Given the description of an element on the screen output the (x, y) to click on. 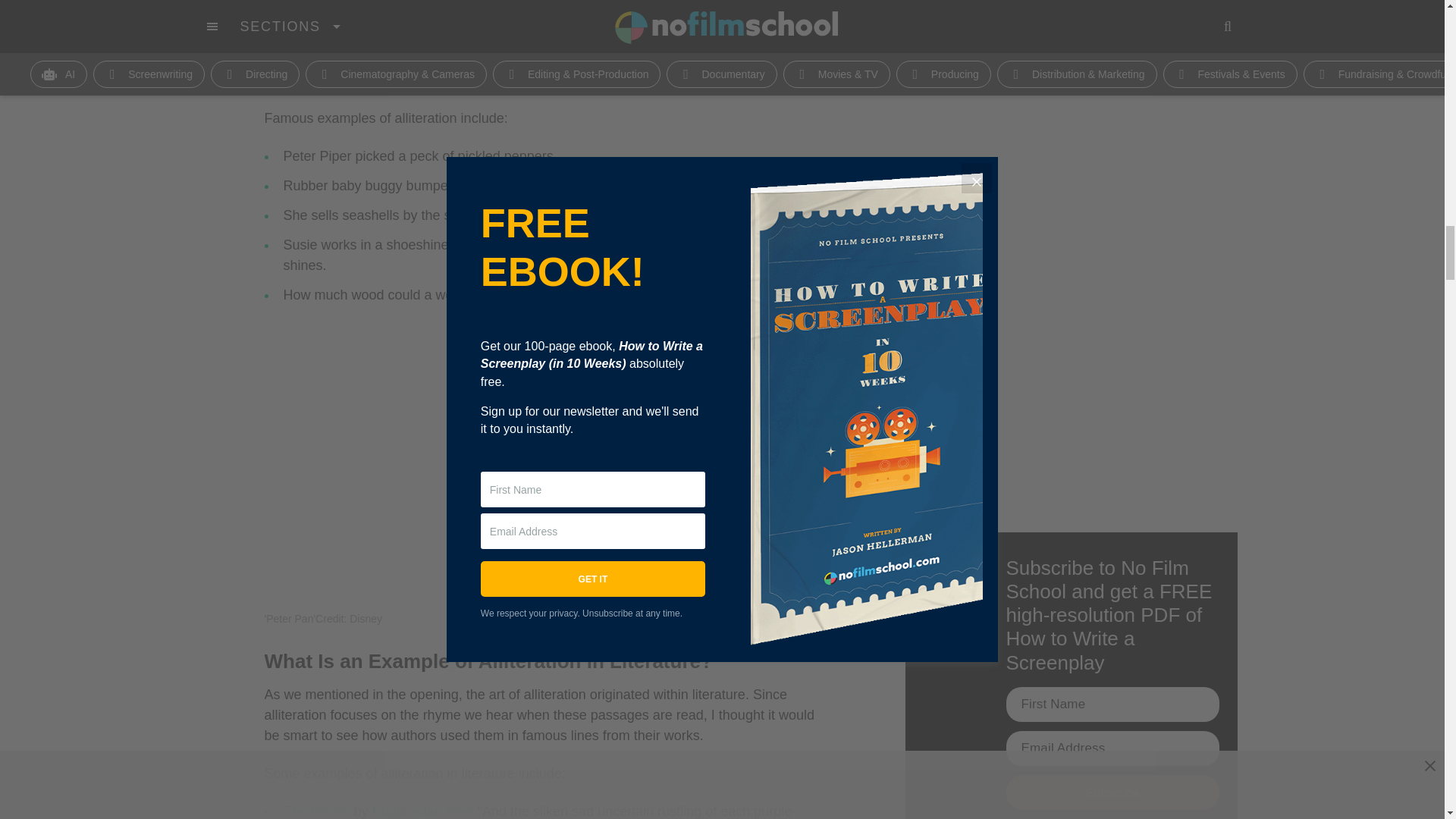
Edgar Allan Poe (421, 811)
